Given the description of an element on the screen output the (x, y) to click on. 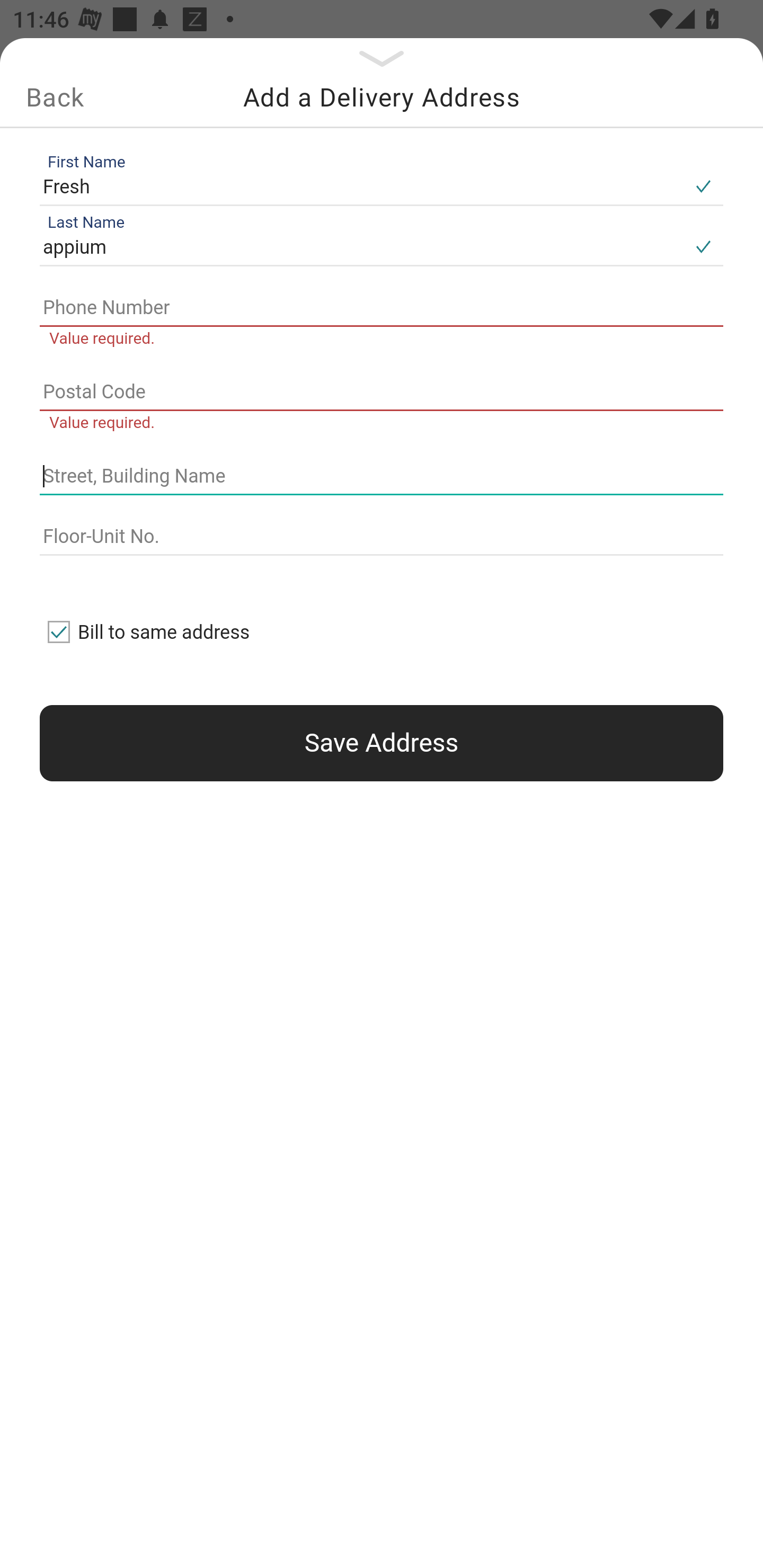
Back (54, 96)
Add a Delivery Address (381, 96)
Fresh (361, 186)
appium (361, 247)
Save Address (381, 742)
